Given the description of an element on the screen output the (x, y) to click on. 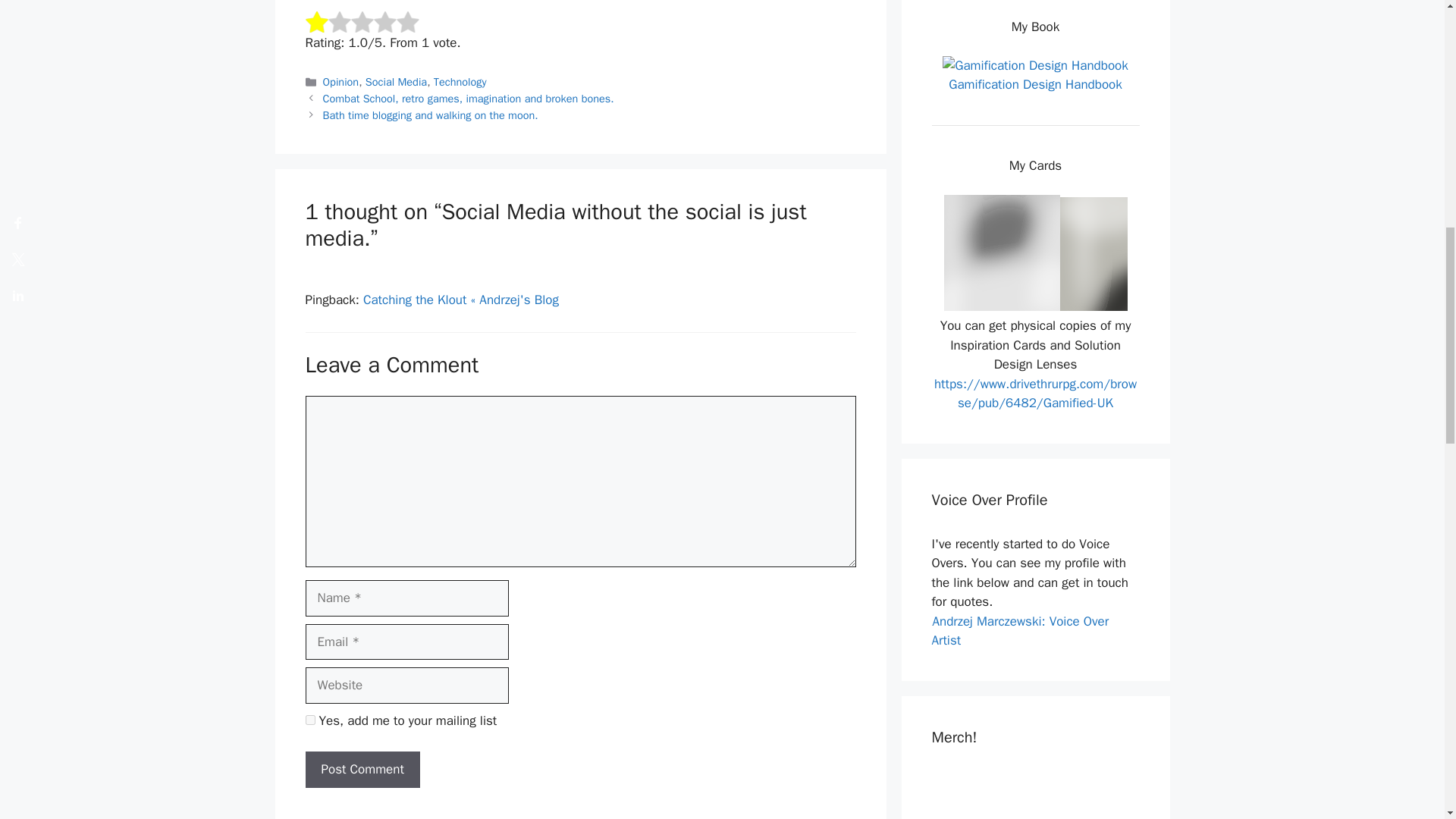
Technology (459, 81)
Combat School, retro games, imagination and broken bones. (468, 98)
Social Media (395, 81)
Opinion (341, 81)
Post Comment (361, 769)
1 (309, 719)
Post Comment (361, 769)
Bath time blogging and walking on the moon. (430, 115)
